Given the description of an element on the screen output the (x, y) to click on. 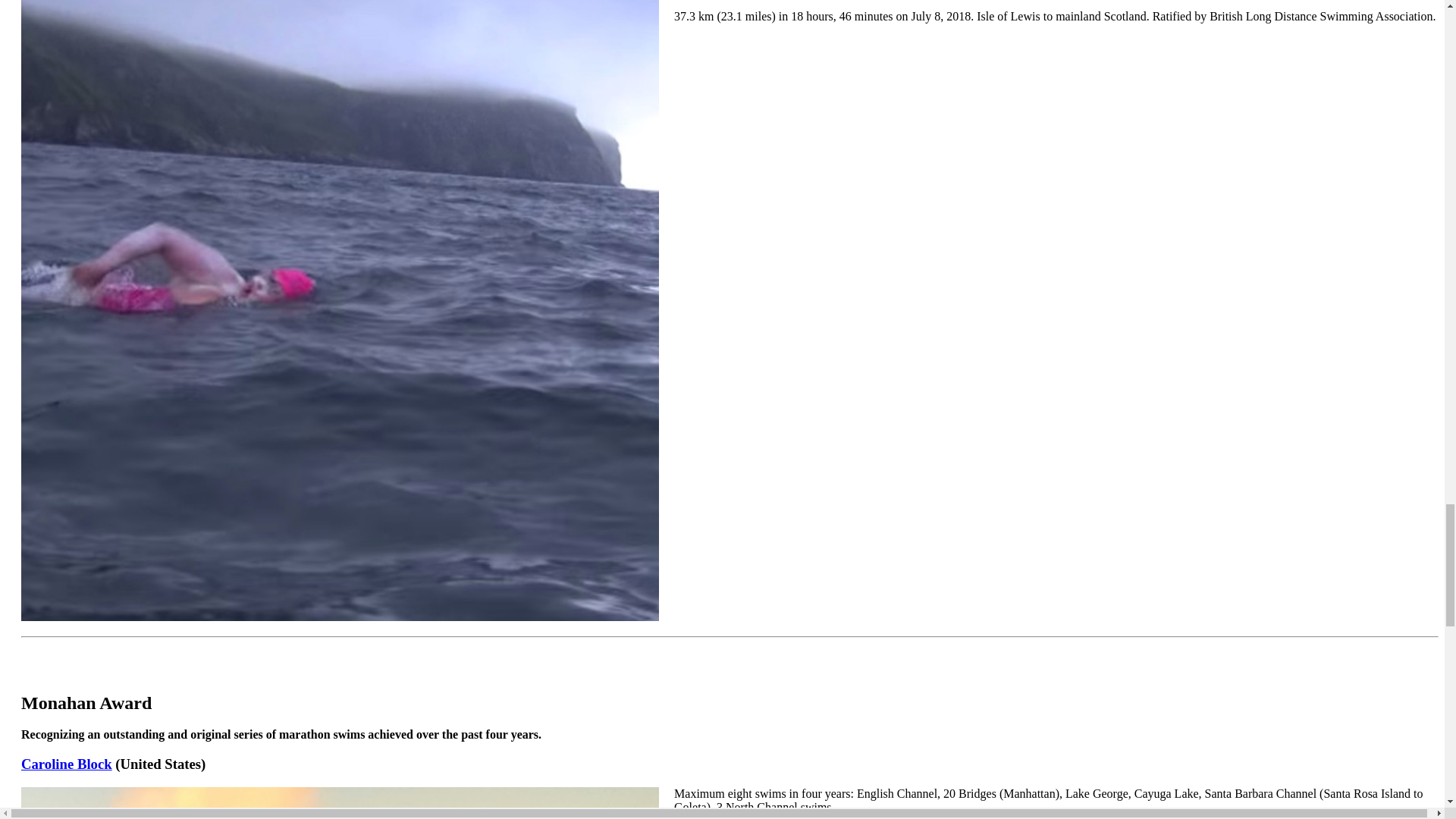
Caroline Block (66, 763)
